Given the description of an element on the screen output the (x, y) to click on. 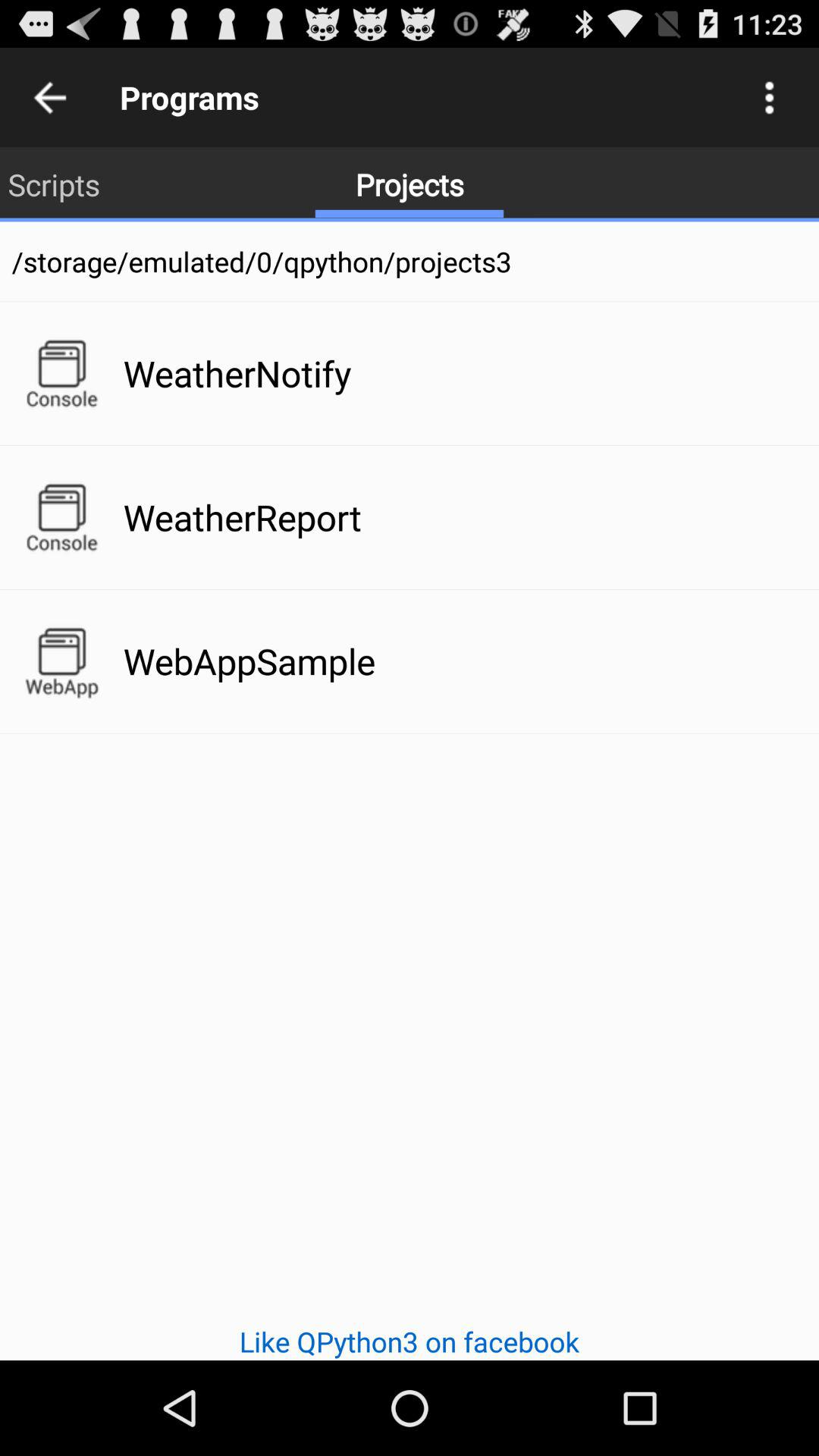
click the web app option (61, 661)
go to the second icon below projects (61, 517)
select the iconn left side to weathernotify (61, 373)
